Given the description of an element on the screen output the (x, y) to click on. 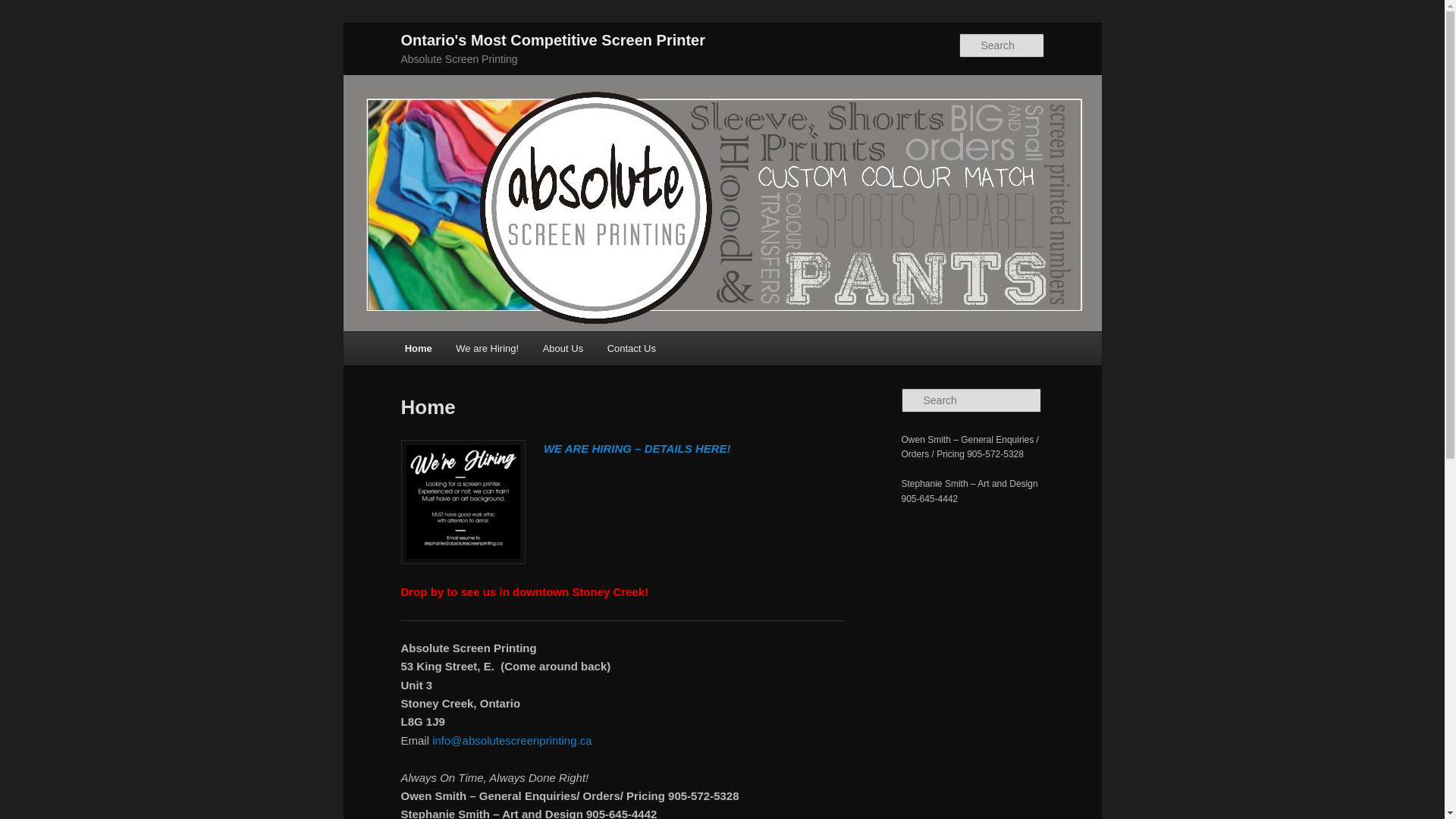
About Us Element type: text (562, 348)
Search Element type: text (20, 10)
Contact Us Element type: text (631, 348)
We are Hiring! Element type: text (487, 348)
Ontario's Most Competitive Screen Printer Element type: text (552, 39)
Skip to primary content Element type: text (80, 31)
DETAILS HERE! Element type: text (687, 448)
Search Element type: text (24, 8)
Home Element type: text (418, 348)
info@absolutescreenprinting.ca Element type: text (511, 740)
